Given the description of an element on the screen output the (x, y) to click on. 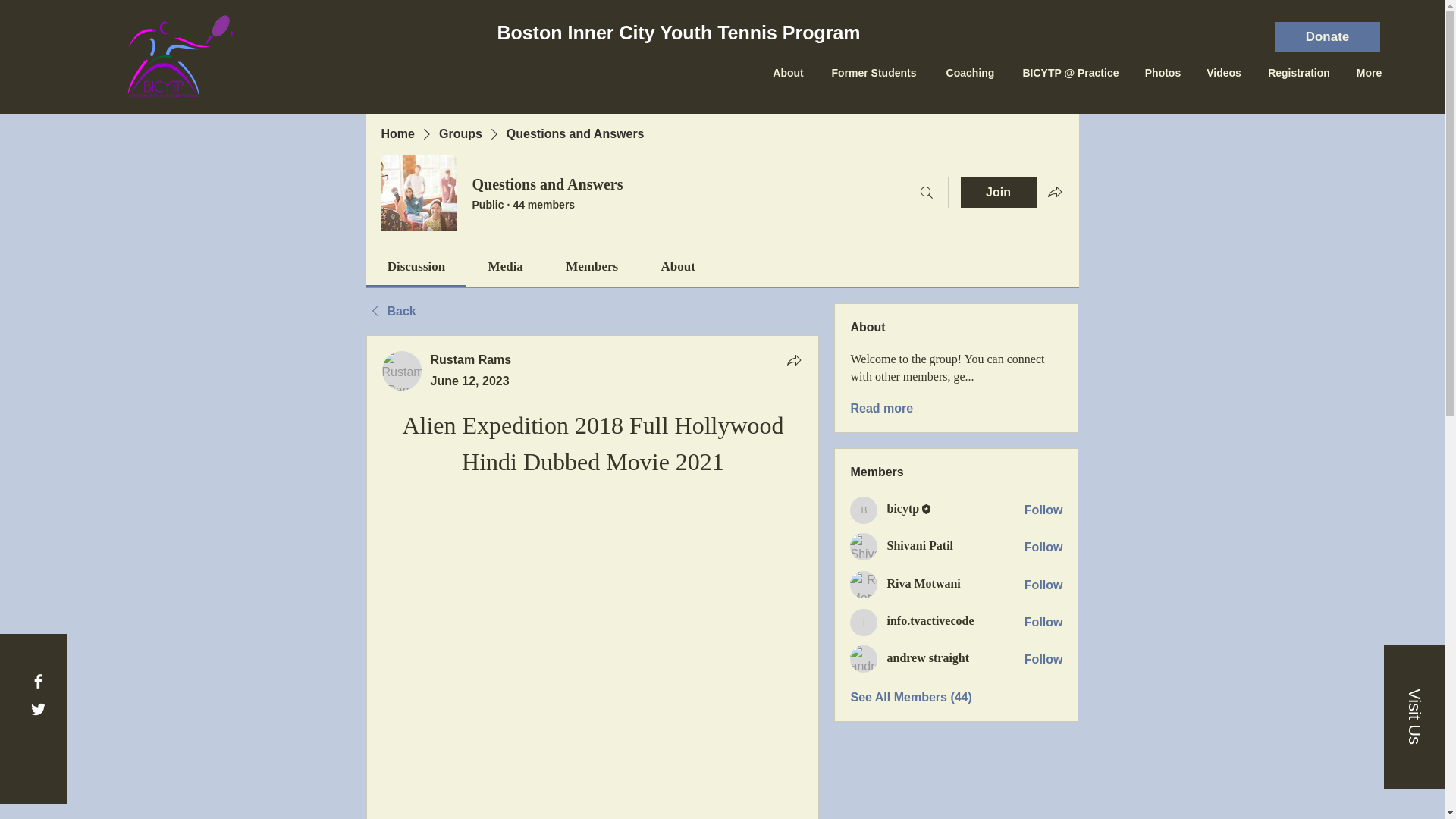
Back (389, 311)
info.tvactivecode (930, 620)
andrew straight (863, 658)
Coaching (970, 72)
Shivani Patil (919, 545)
Follow (1043, 622)
Follow (1043, 585)
Read more (881, 408)
andrew straight (927, 657)
Riva Motwani (922, 583)
